Given the description of an element on the screen output the (x, y) to click on. 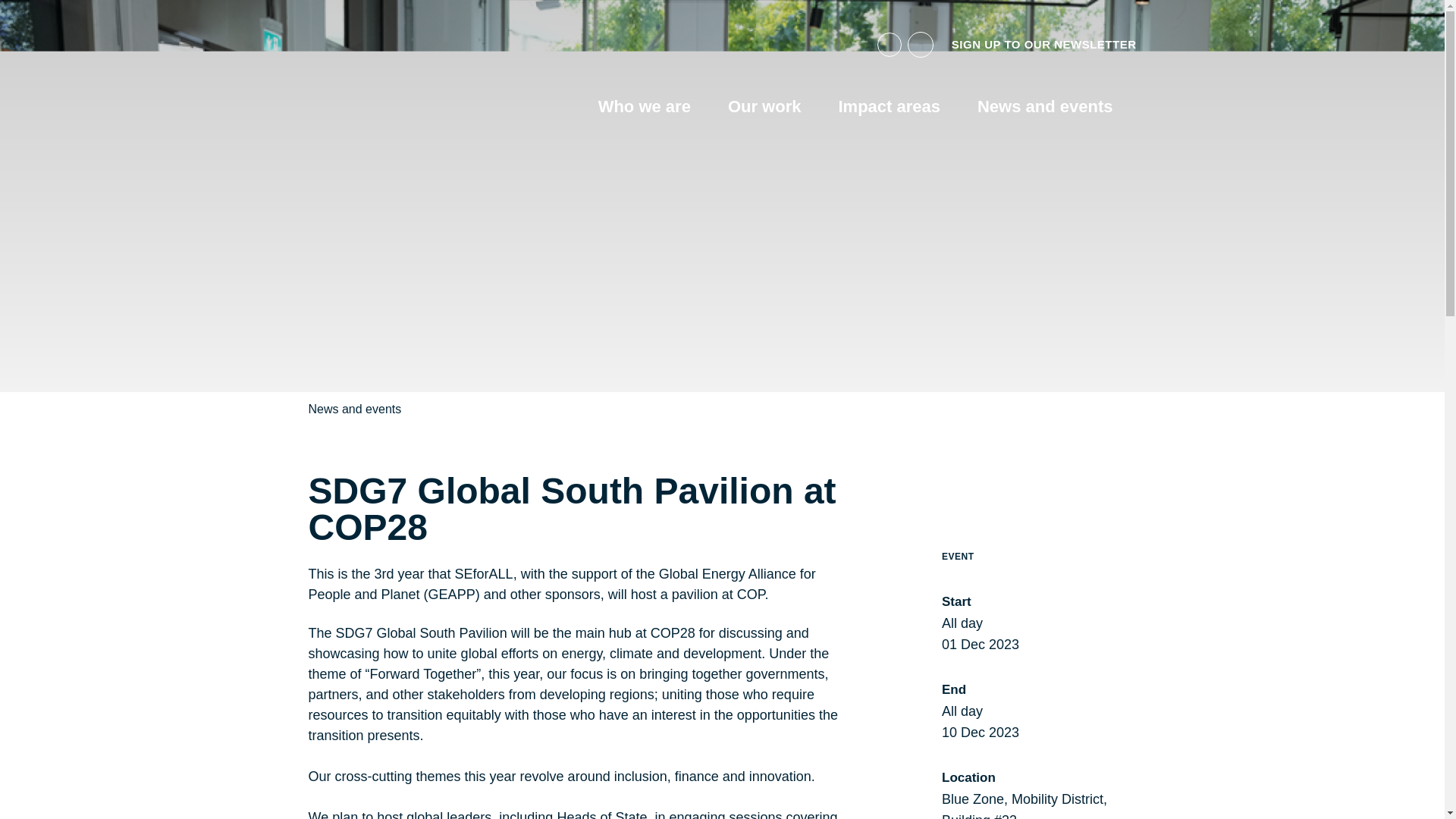
Our work (765, 107)
Search all content (920, 44)
Impact areas (889, 107)
Who we are (644, 107)
SIGN UP TO OUR NEWSLETTER (1044, 44)
News and events (1044, 107)
